Given the description of an element on the screen output the (x, y) to click on. 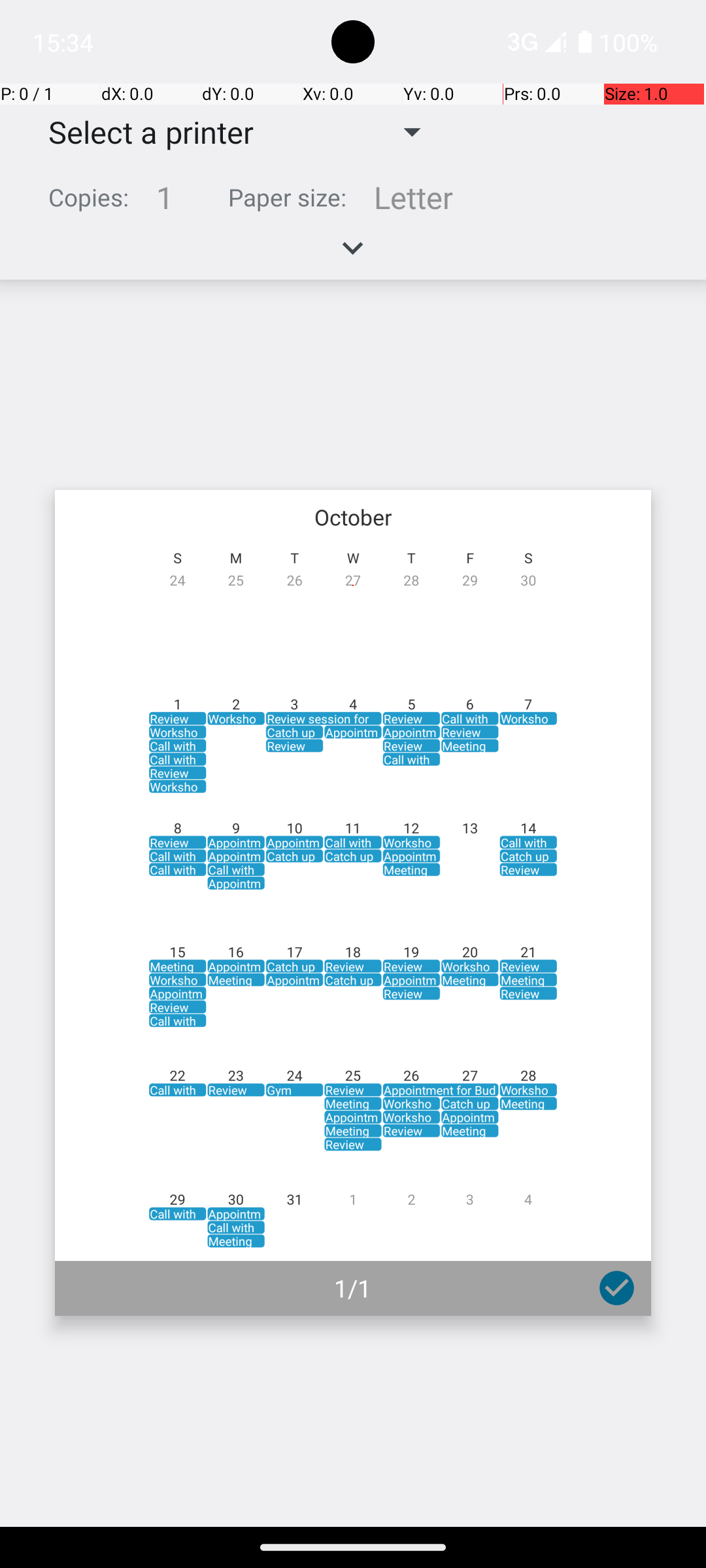
Expand handle Element type: android.widget.FrameLayout (353, 255)
Summary, copies 1, paper size Letter Element type: android.widget.LinearLayout (353, 202)
Select a printer Element type: android.widget.TextView (140, 131)
Copies: Element type: android.widget.TextView (88, 196)
Paper size: Element type: android.widget.TextView (287, 196)
Letter Element type: android.widget.TextView (413, 196)
Page 1 of 1 Element type: android.widget.CompoundButton (352, 902)
1/1 Element type: android.widget.TextView (352, 1287)
